Given the description of an element on the screen output the (x, y) to click on. 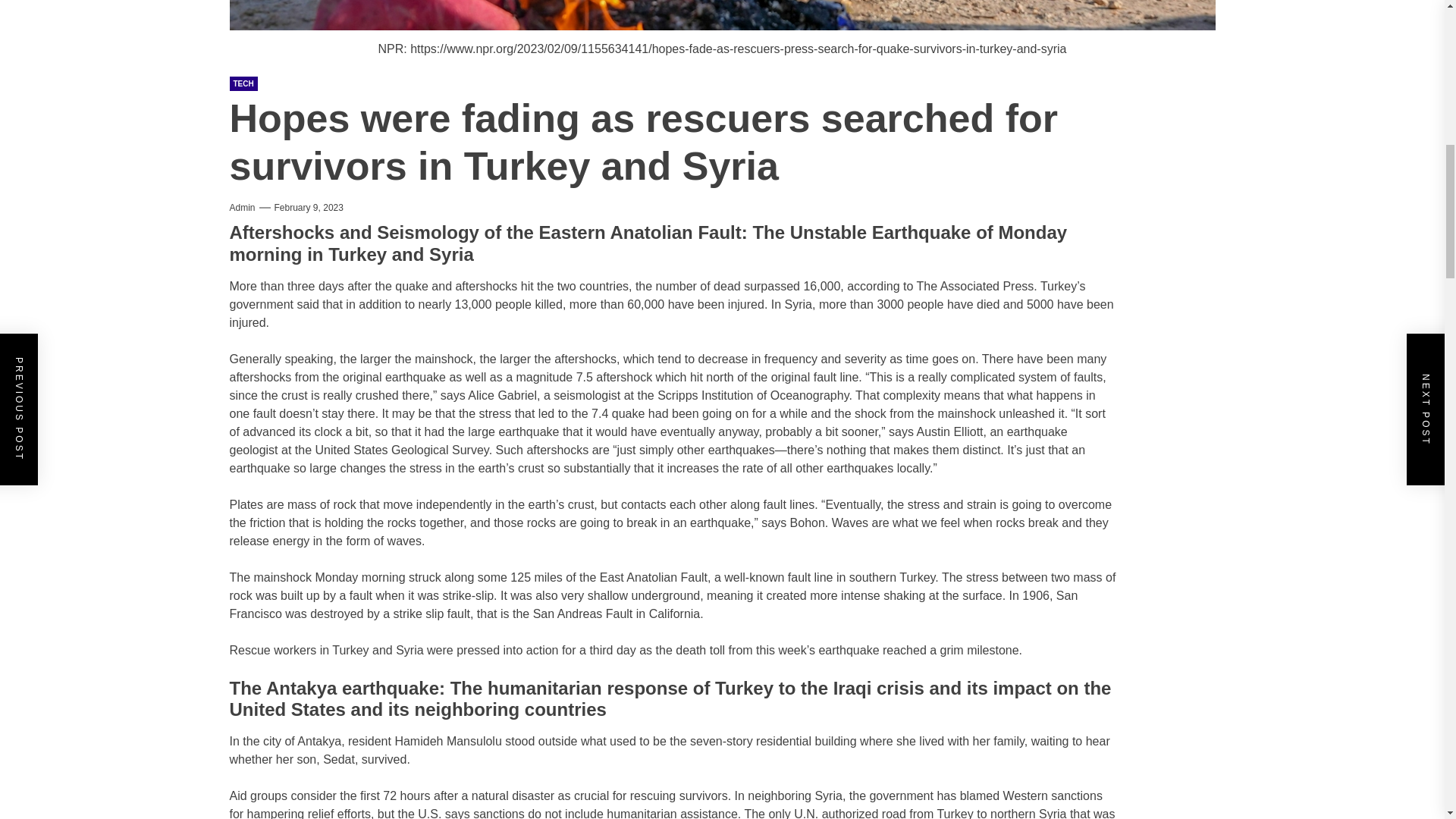
TECH (242, 83)
Admin (241, 207)
February 9, 2023 (309, 207)
